Given the description of an element on the screen output the (x, y) to click on. 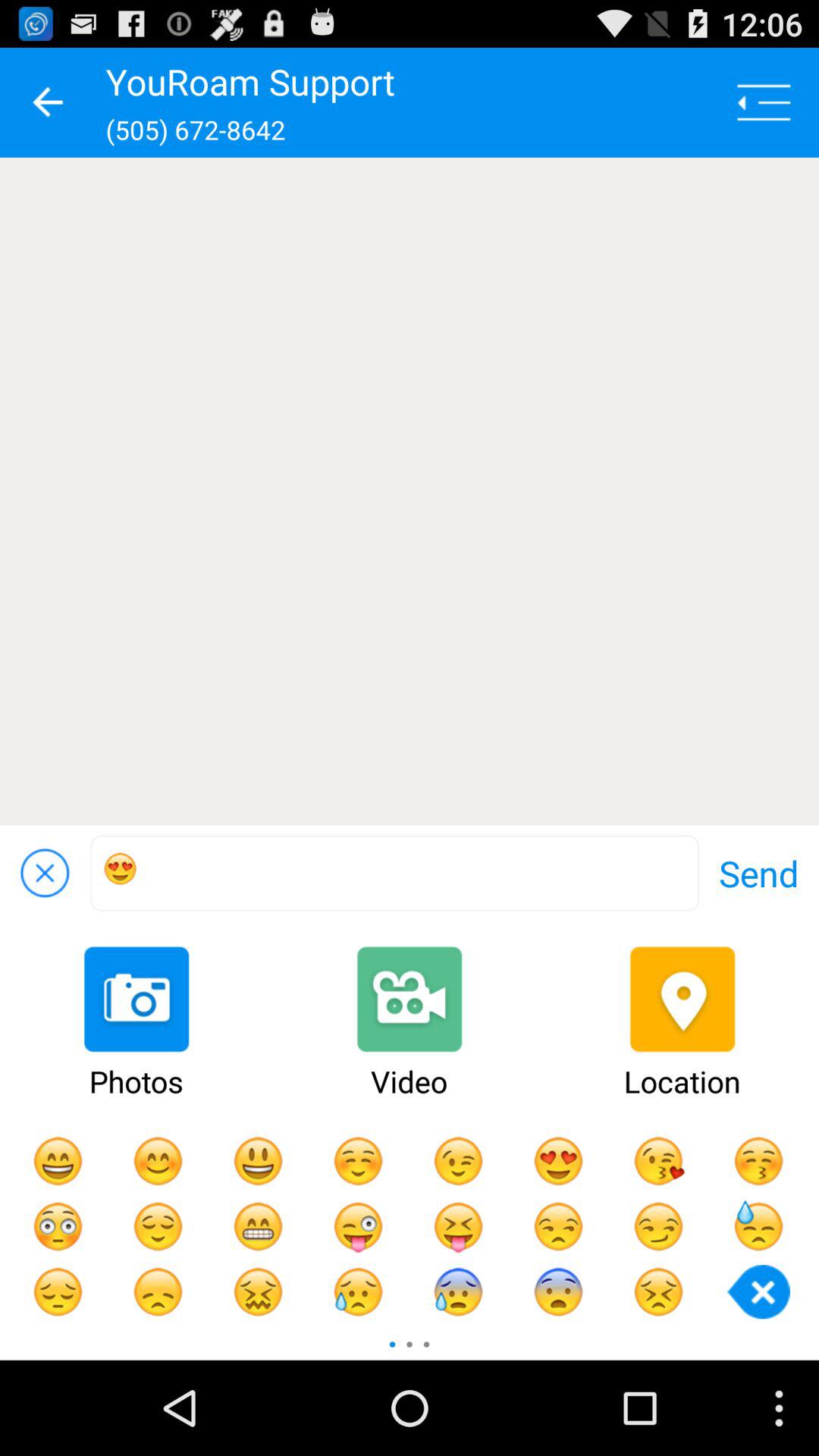
map of roaming (409, 491)
